Given the description of an element on the screen output the (x, y) to click on. 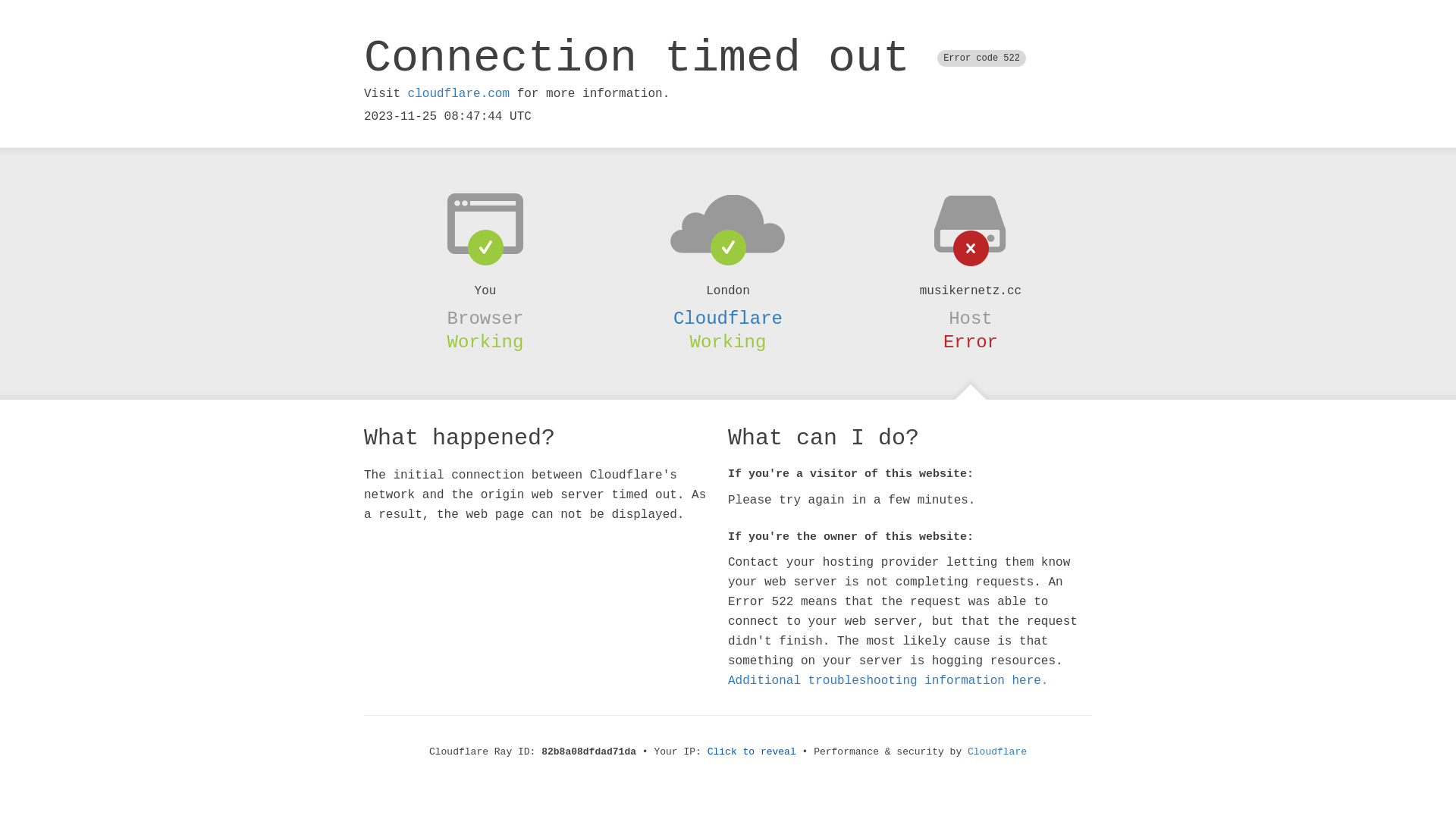
Additional troubleshooting information here. Element type: text (888, 680)
cloudflare.com Element type: text (458, 93)
Click to reveal Element type: text (751, 751)
Cloudflare Element type: text (996, 751)
Cloudflare Element type: text (727, 318)
